Given the description of an element on the screen output the (x, y) to click on. 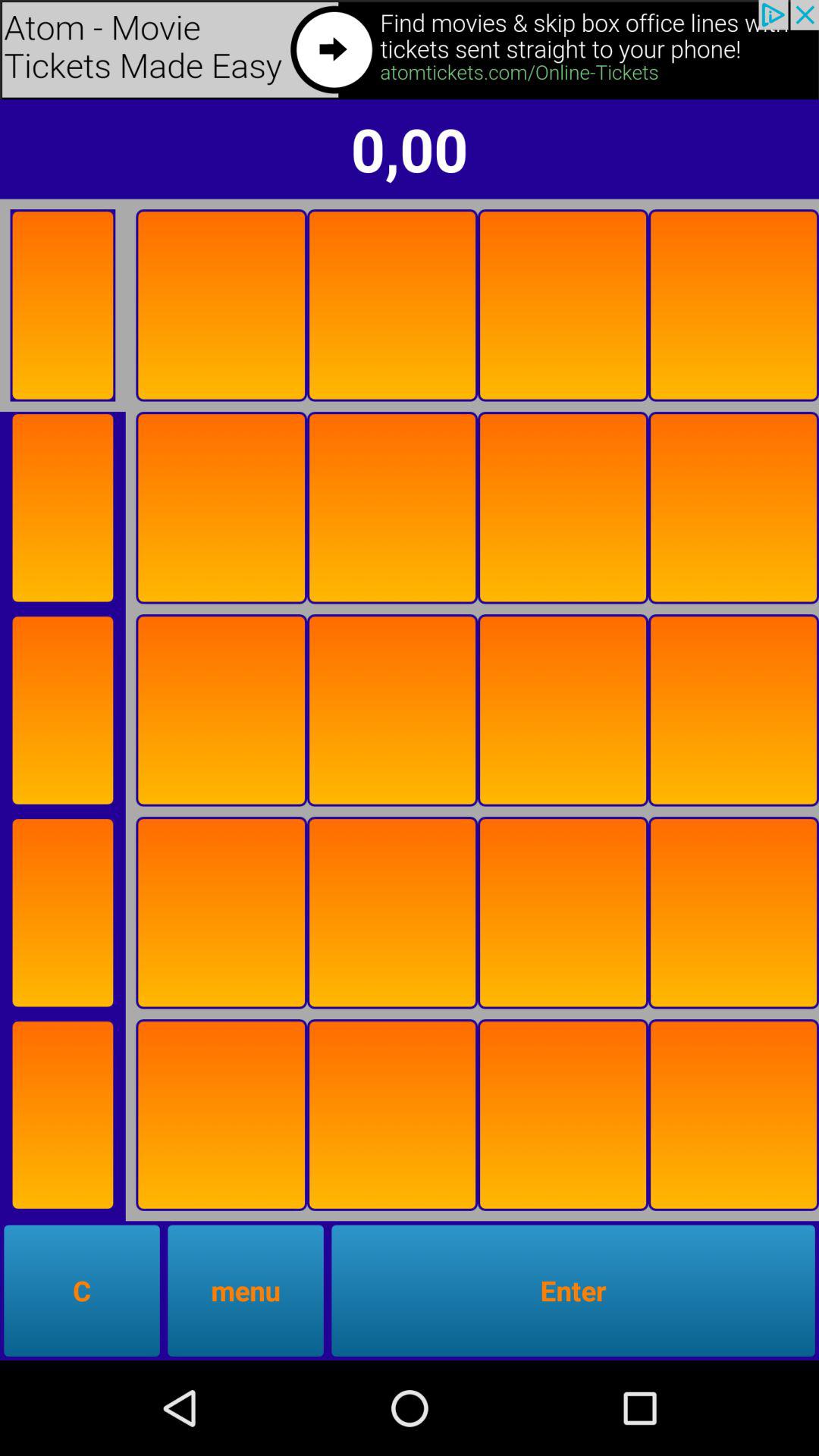
flip card (733, 1114)
